Given the description of an element on the screen output the (x, y) to click on. 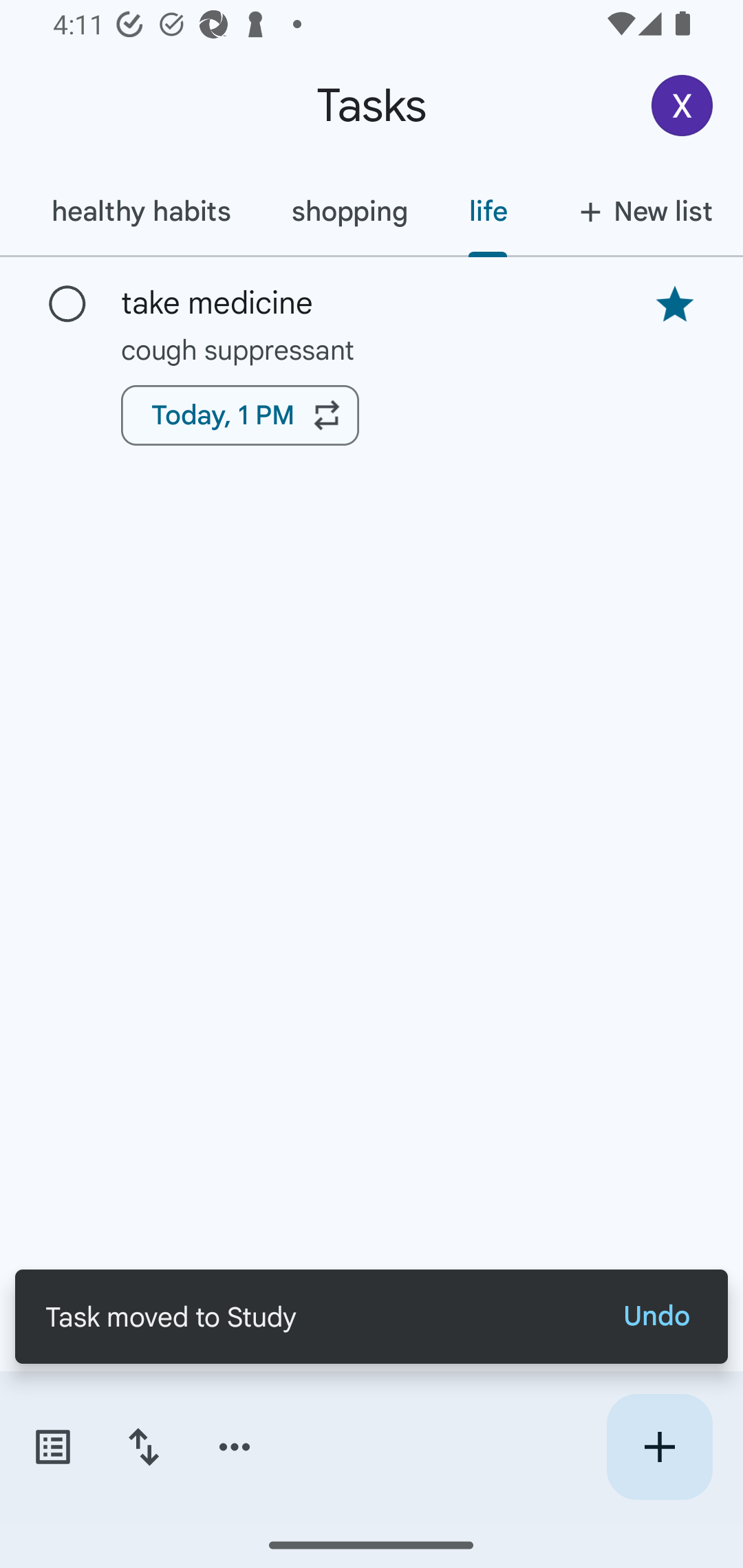
healthy habits (140, 211)
shopping (349, 211)
New list (640, 211)
Remove star (674, 303)
Mark as complete (67, 304)
cough suppressant (371, 349)
Today, 1 PM (239, 415)
Undo (656, 1316)
Switch task lists (52, 1447)
Create new task (659, 1446)
Change sort order (143, 1446)
More options (234, 1446)
